Given the description of an element on the screen output the (x, y) to click on. 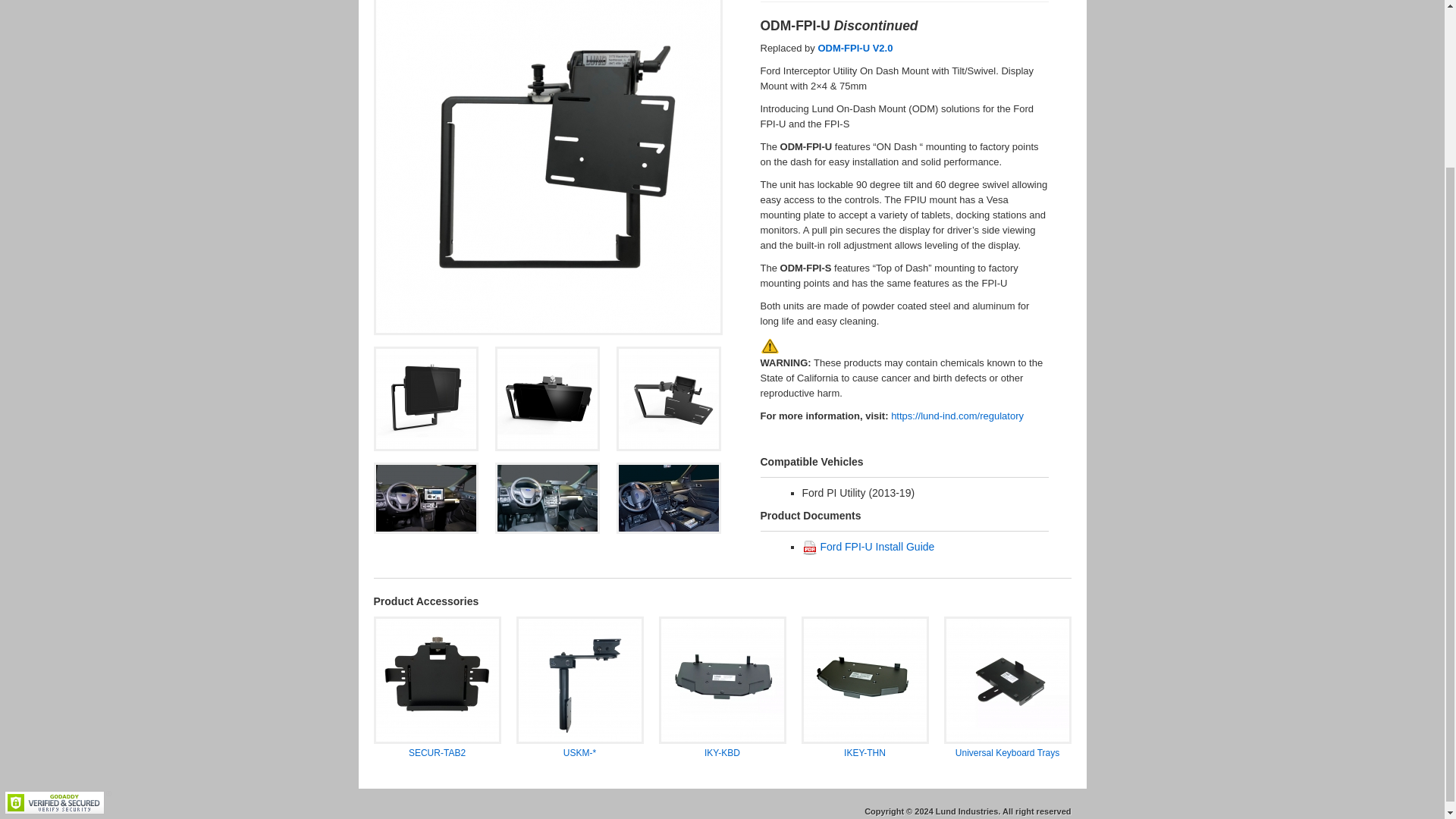
Universal Keyboard Trays (1006, 717)
IKEY-THN (864, 717)
ODM-FPI-U (425, 497)
ODM-FPI-U OPEN (668, 497)
SECUR-TAB2 (436, 717)
ODM-FPI-U (668, 398)
Ford FPI-U Install Guide (876, 546)
ODM-FPI-U (547, 497)
IKY-KBD (722, 717)
ODM-FPI-U V2.0 (854, 48)
